Given the description of an element on the screen output the (x, y) to click on. 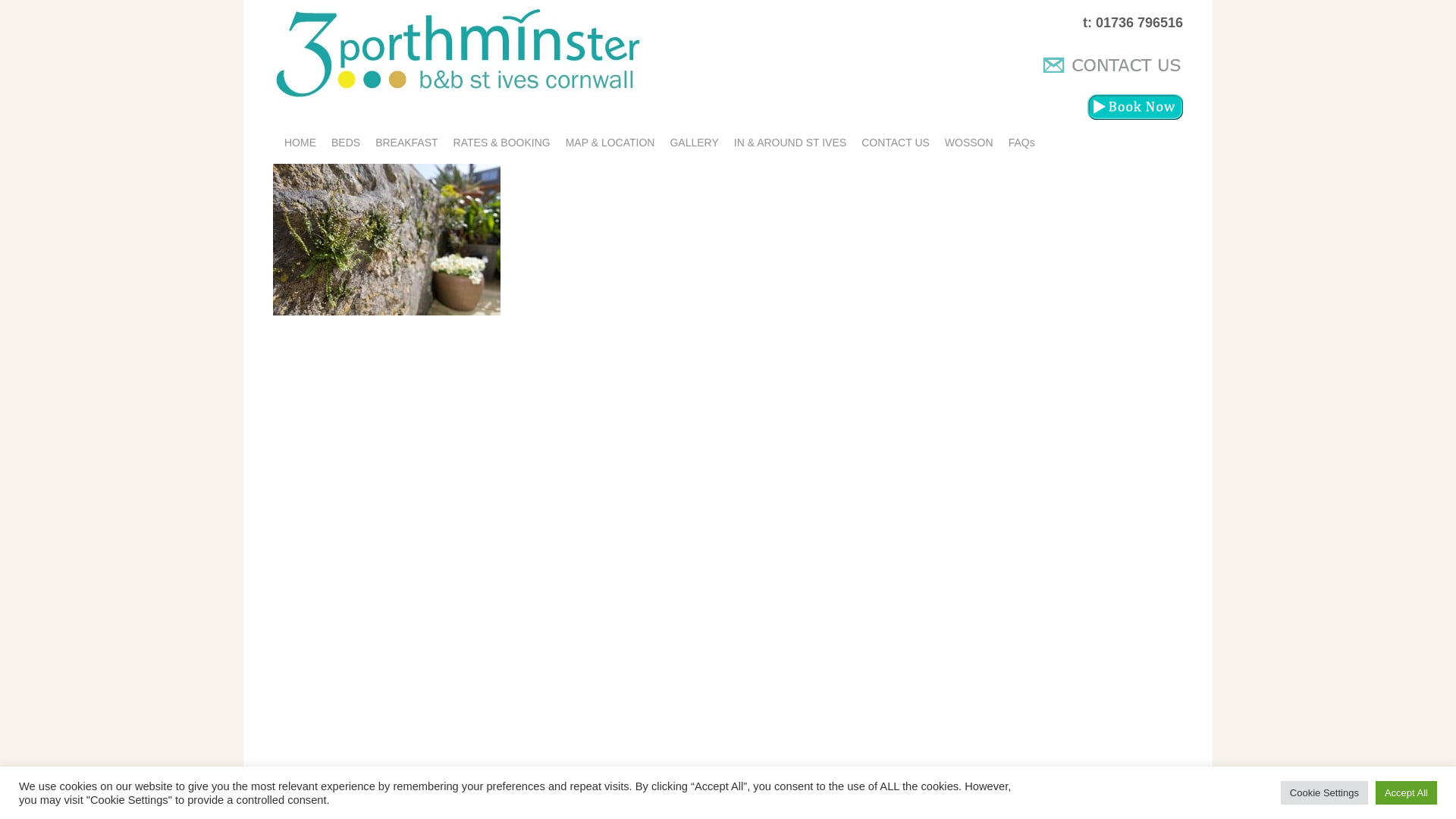
HOME Element type: text (299, 142)
Cookie Settings Element type: text (1324, 792)
IN & AROUND ST IVES Element type: text (789, 142)
MAP & LOCATION Element type: text (610, 142)
GALLERY Element type: text (693, 142)
RATES & BOOKING Element type: text (501, 142)
BREAKFAST Element type: text (406, 142)
FAQs Element type: text (1021, 142)
WOSSON Element type: text (969, 142)
Accept All Element type: text (1406, 792)
CONTACT US Element type: text (895, 142)
BEDS Element type: text (345, 142)
